Given the description of an element on the screen output the (x, y) to click on. 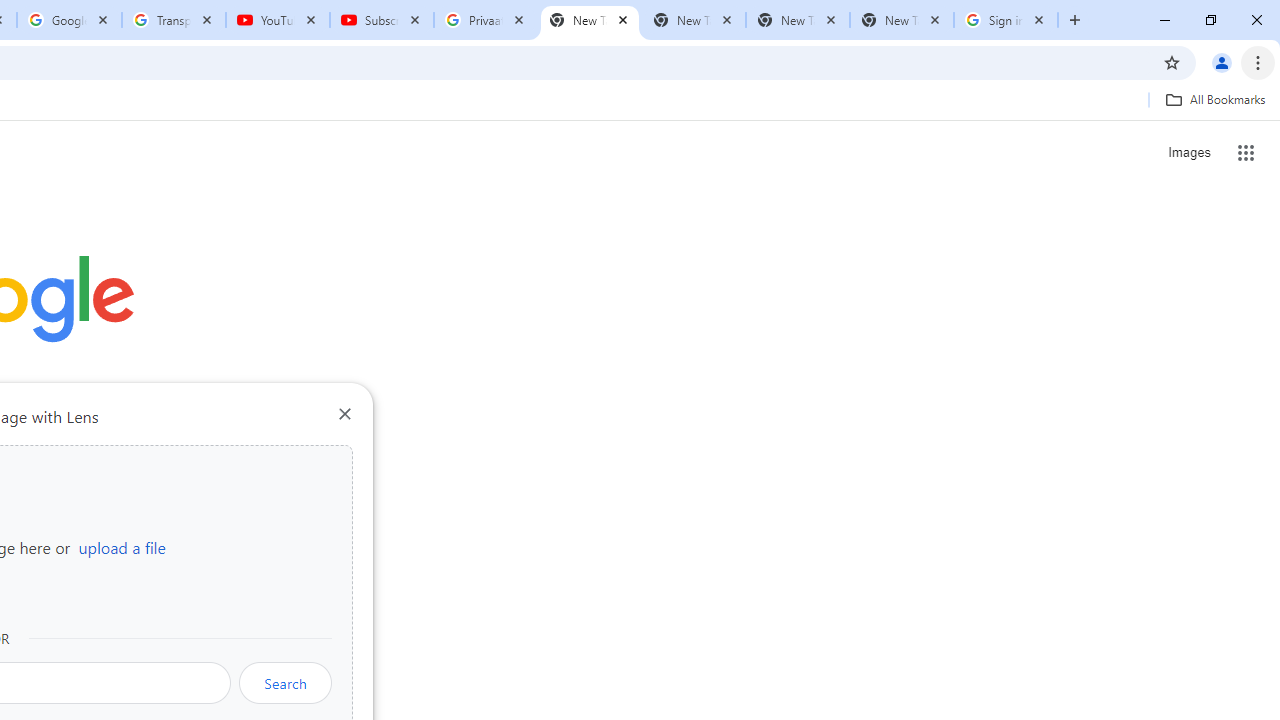
Add shortcut (223, 504)
Google Account (68, 20)
More actions for Sign in shortcut (152, 466)
upload a file (122, 547)
New Tab (901, 20)
